Given the description of an element on the screen output the (x, y) to click on. 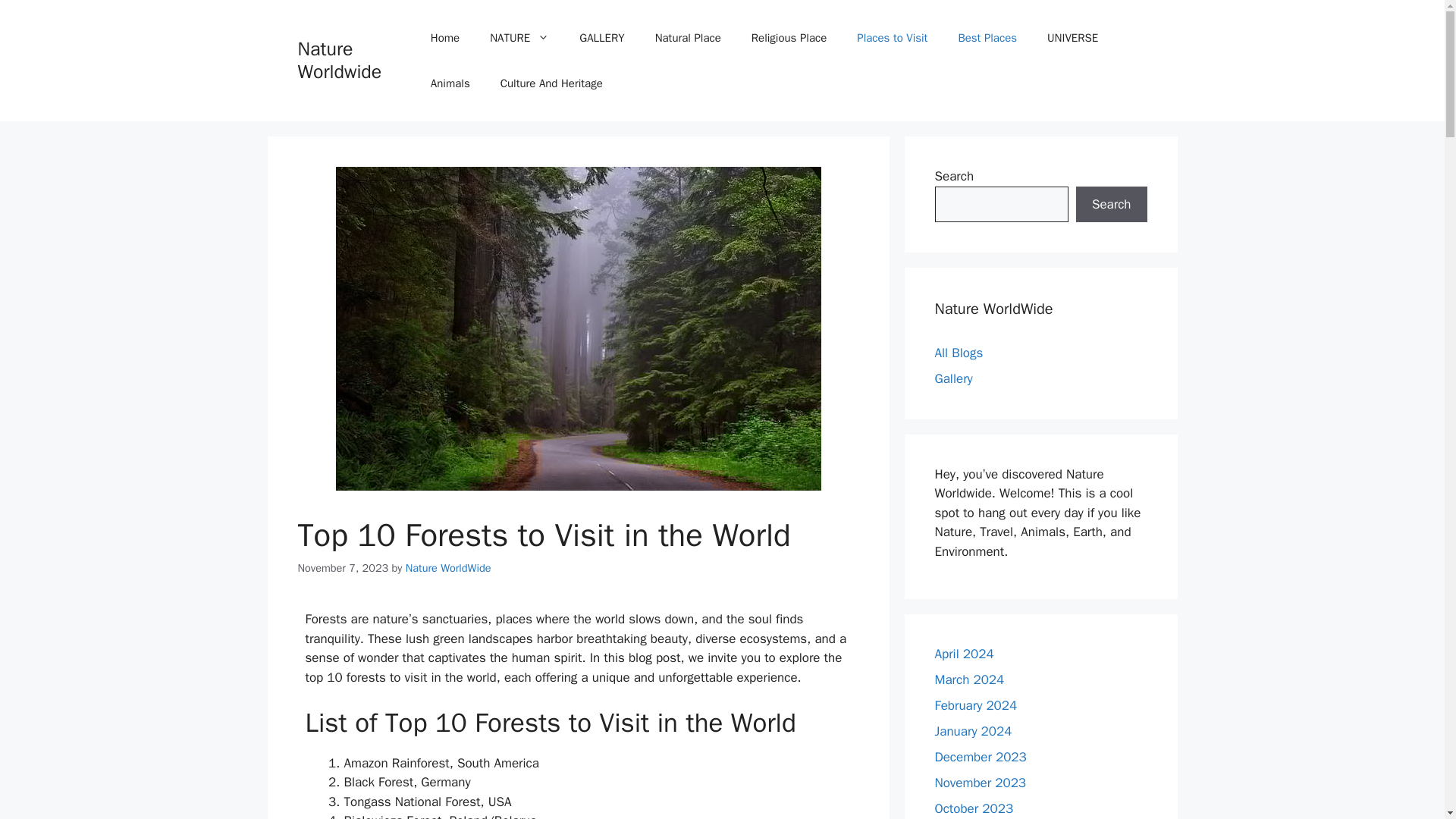
GALLERY (601, 37)
Religious Place (788, 37)
Places to Visit (891, 37)
View all posts by Nature WorldWide (449, 567)
Animals (449, 83)
Nature WorldWide (449, 567)
UNIVERSE (1072, 37)
Nature Worldwide (339, 59)
Natural Place (688, 37)
NATURE (519, 37)
